Given the description of an element on the screen output the (x, y) to click on. 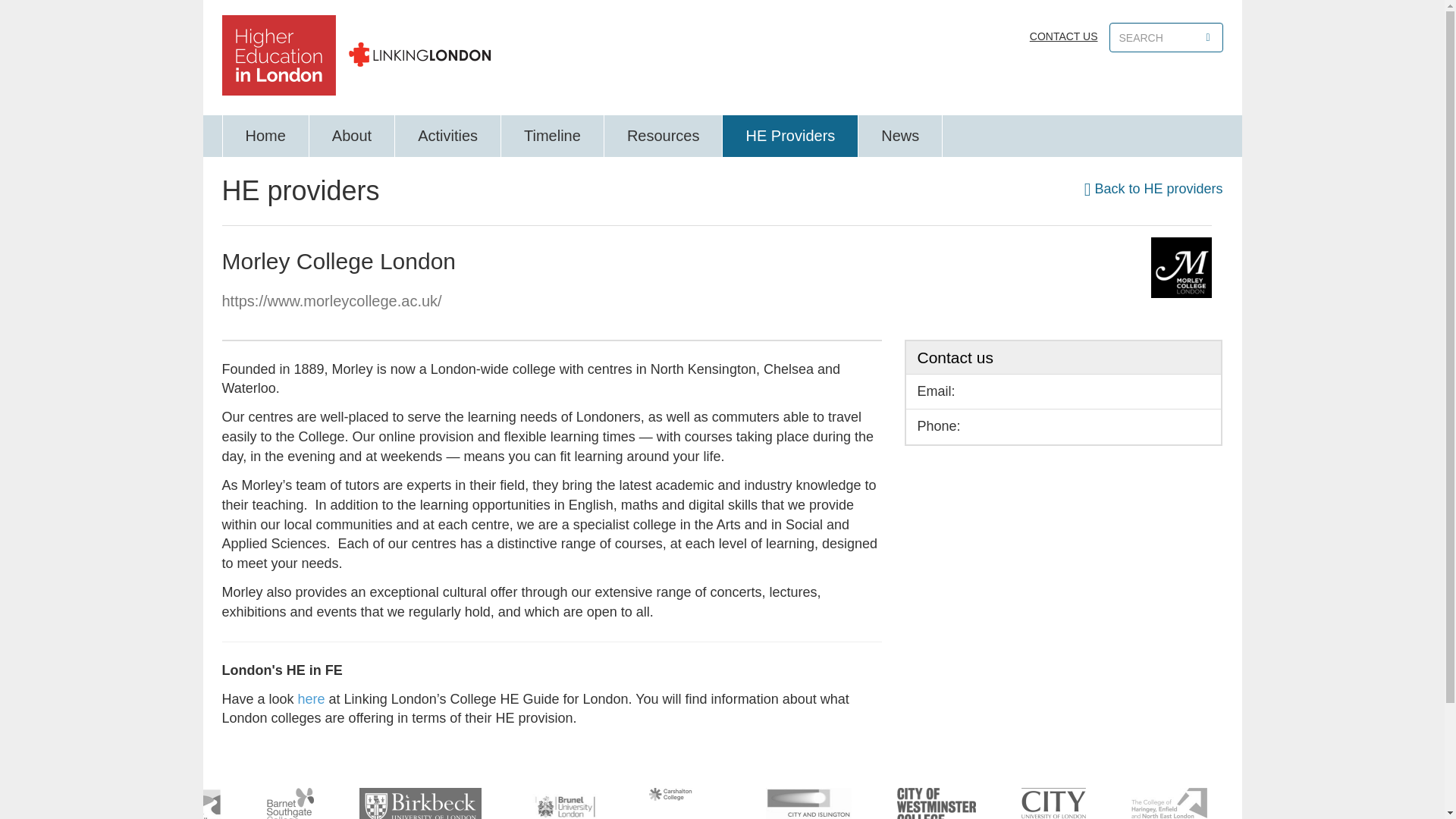
News (900, 136)
Timeline (552, 136)
CONTACT US (1063, 36)
Back to HE providers (1153, 188)
HE Providers (790, 136)
Home (264, 136)
Resources (663, 136)
Activities (447, 136)
here (311, 698)
About (351, 136)
